Given the description of an element on the screen output the (x, y) to click on. 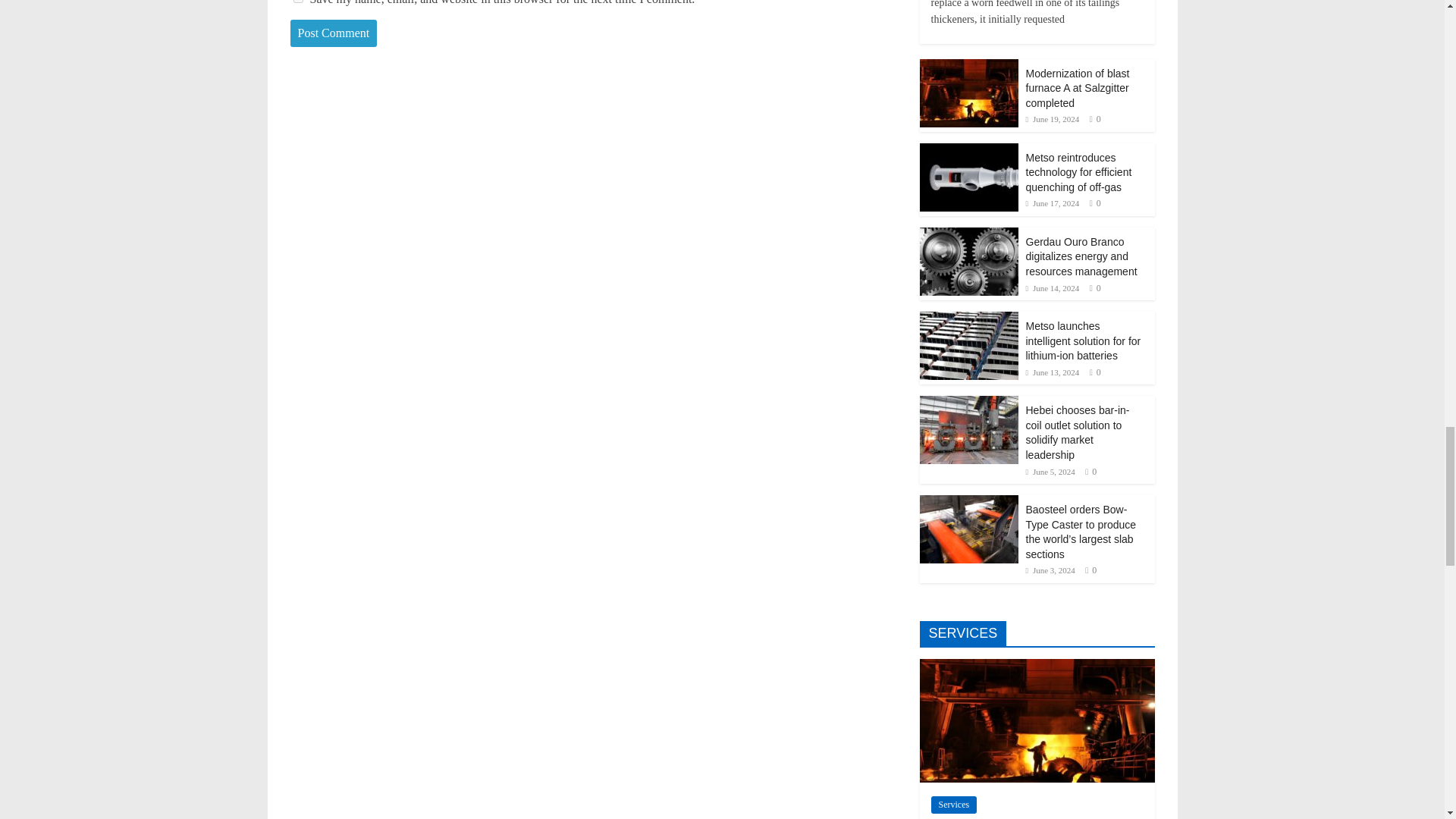
yes (297, 1)
Post Comment (333, 32)
